Given the description of an element on the screen output the (x, y) to click on. 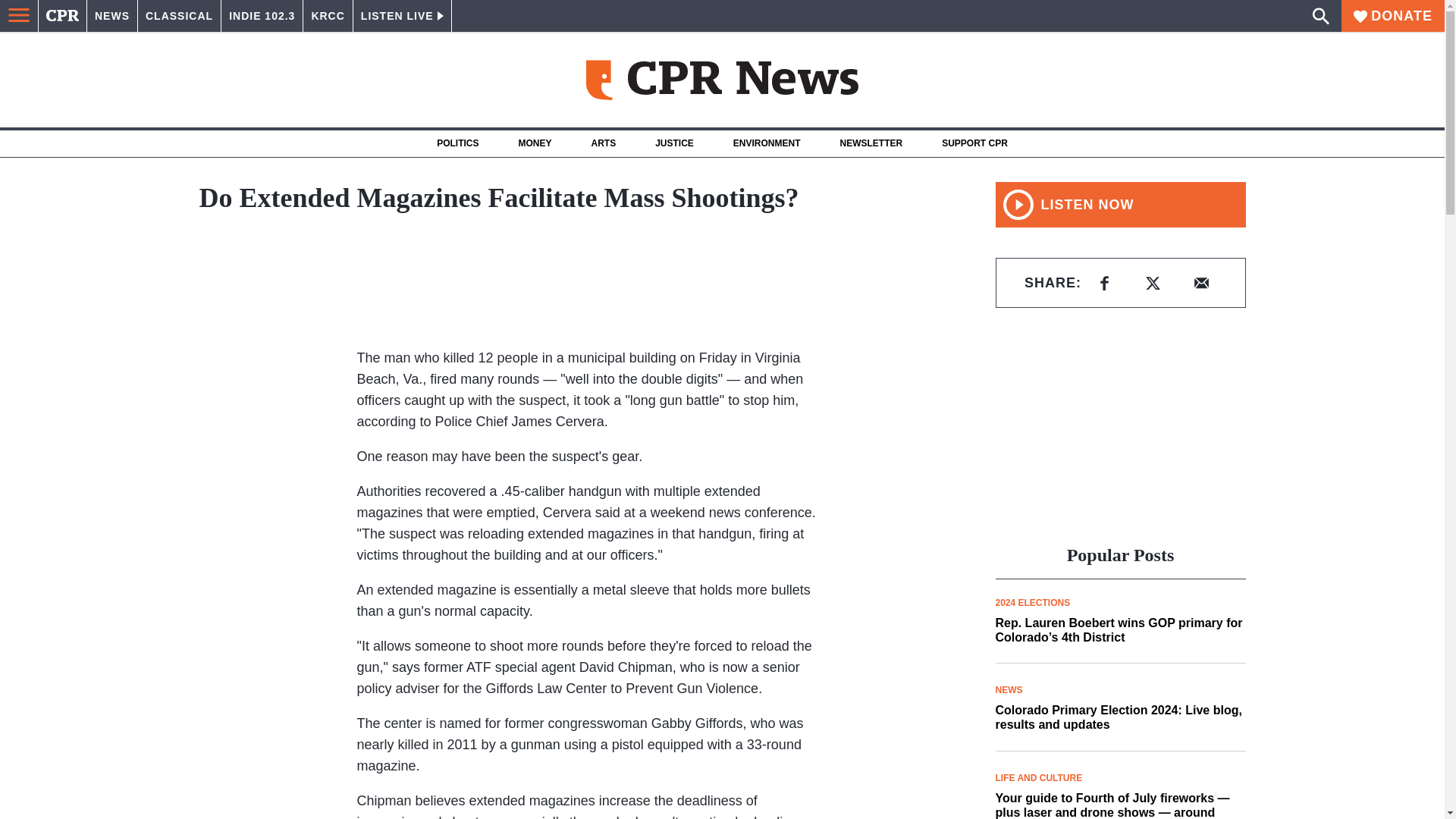
INDIE 102.3 (261, 15)
KRCC (327, 15)
NEWS (111, 15)
LISTEN LIVE (402, 15)
CLASSICAL (179, 15)
